Given the description of an element on the screen output the (x, y) to click on. 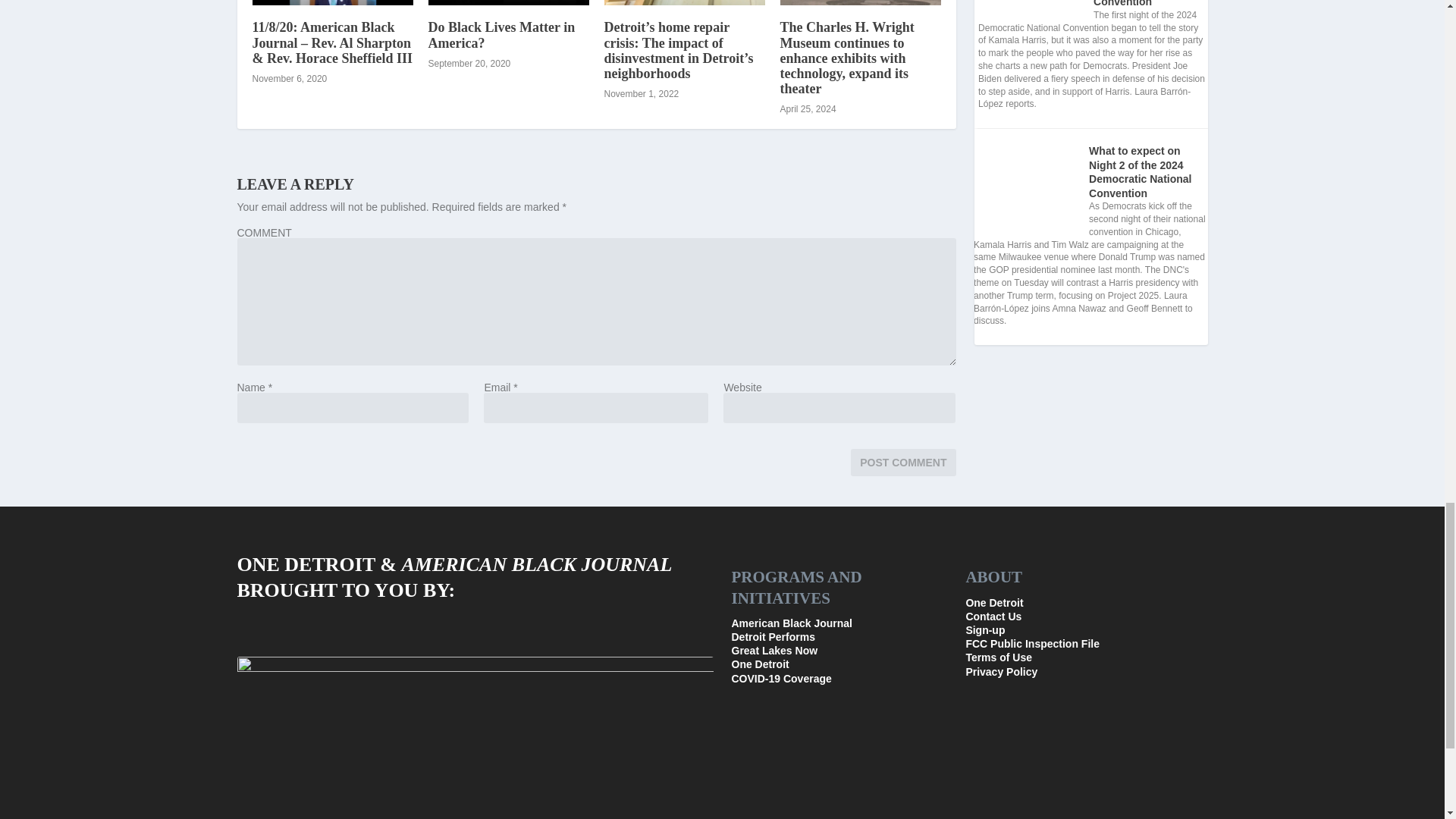
Do Black Lives Matter in America? (508, 2)
Post Comment (902, 461)
